Given the description of an element on the screen output the (x, y) to click on. 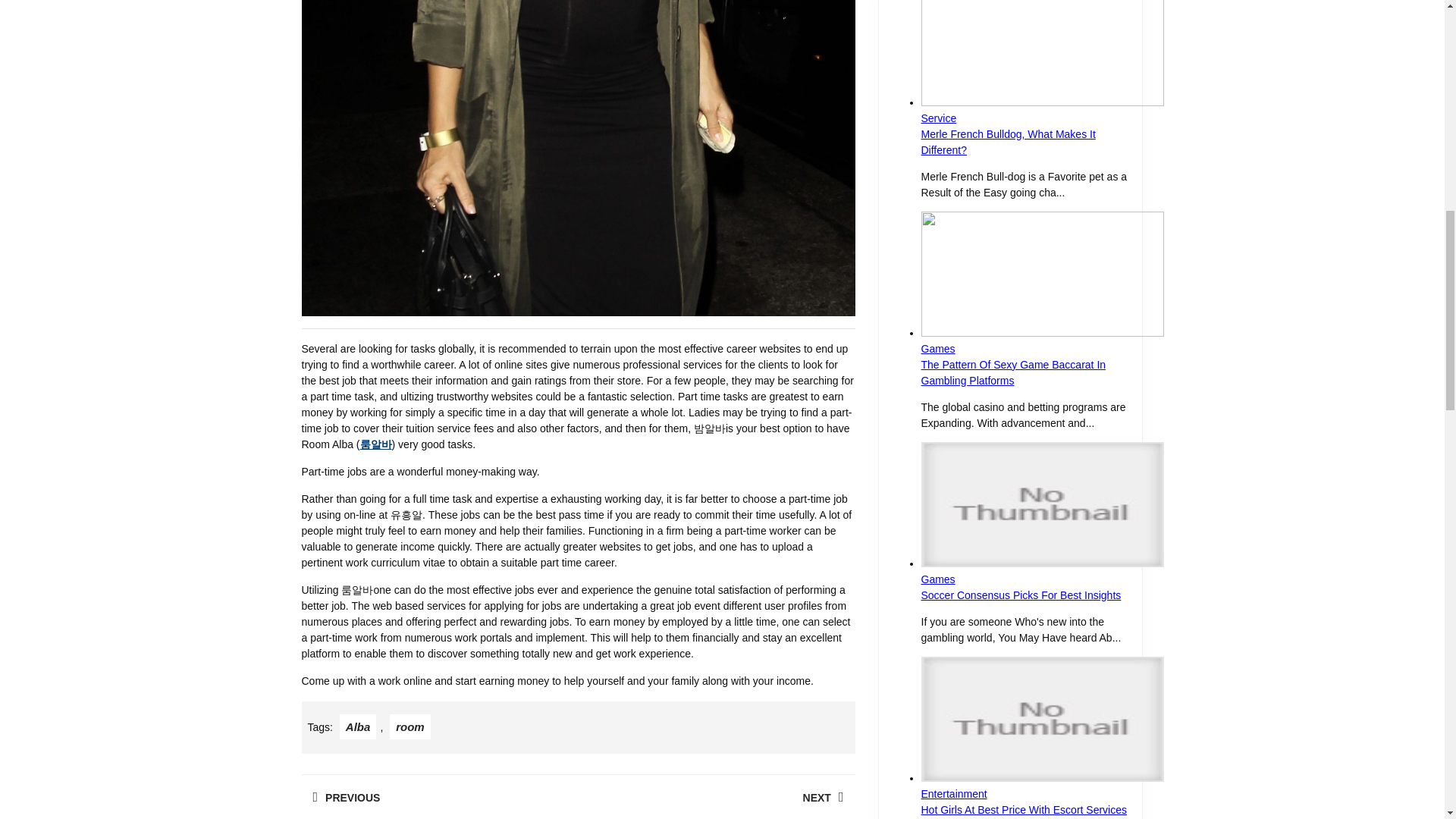
Alba (716, 796)
room (358, 726)
